Given the description of an element on the screen output the (x, y) to click on. 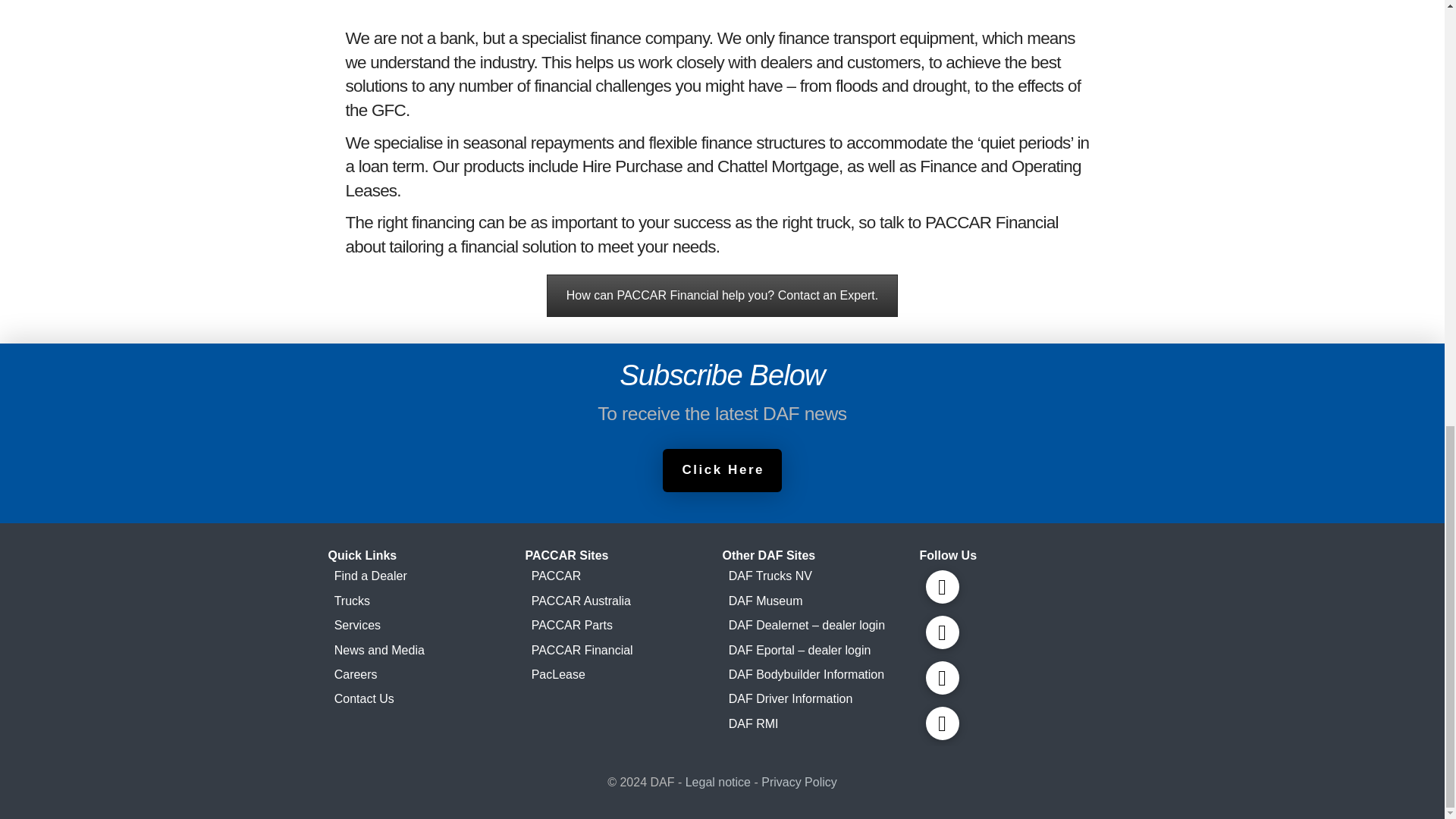
PACCAR Australia (623, 600)
PACCAR (623, 576)
DAF Driver Information (820, 699)
Careers (425, 674)
Find a Dealer (425, 576)
DAF Bodybuilder Information (820, 674)
How can PACCAR Financial help you? Contact an Expert. (722, 295)
PACCAR Financial (623, 649)
DAF Trucks NV (820, 576)
Contact Us (425, 699)
DAF Museum (820, 600)
Click Here (721, 470)
DAF RMI (820, 723)
PACCAR Parts (623, 625)
Services (425, 625)
